Given the description of an element on the screen output the (x, y) to click on. 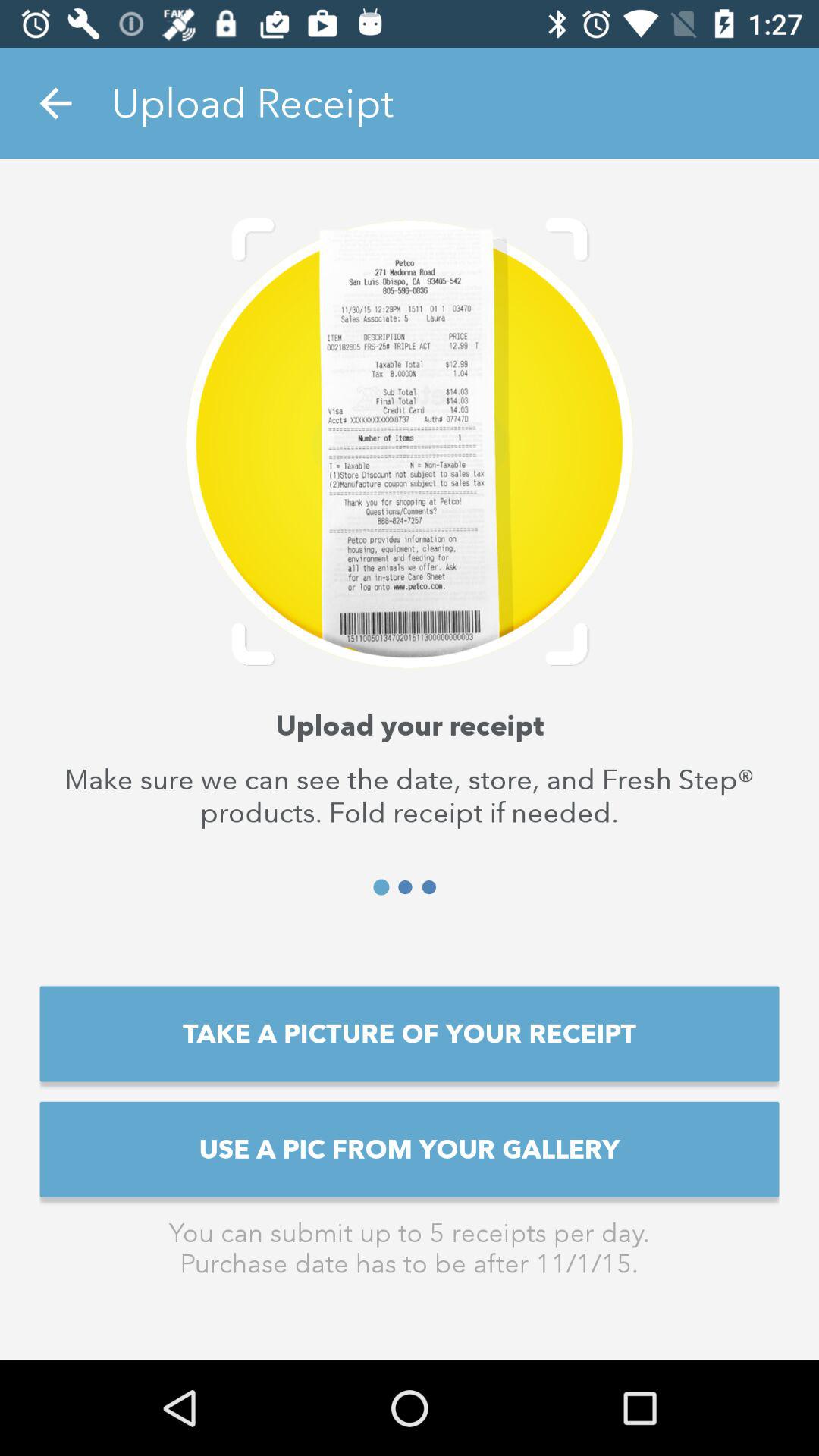
click the take a picture icon (409, 1033)
